Given the description of an element on the screen output the (x, y) to click on. 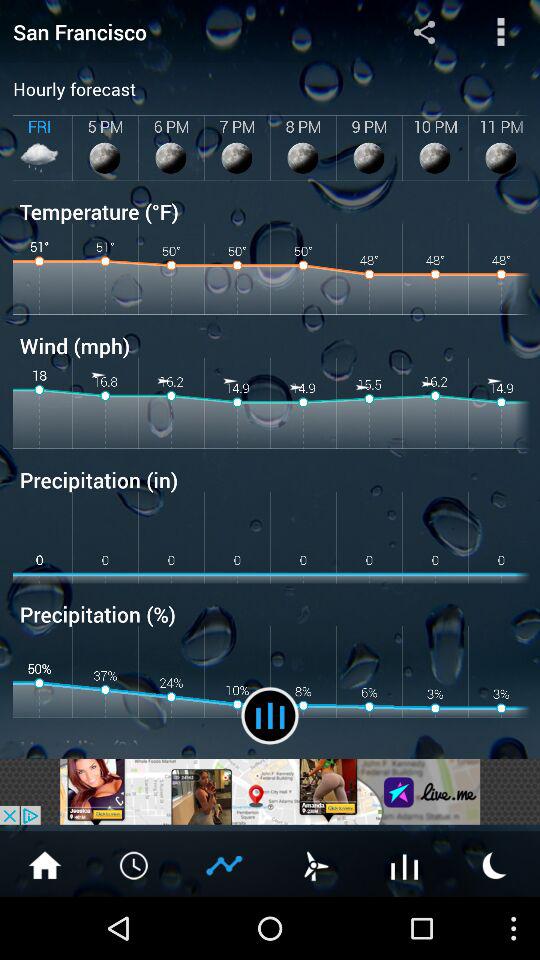
snooze sleep (495, 864)
